Given the description of an element on the screen output the (x, y) to click on. 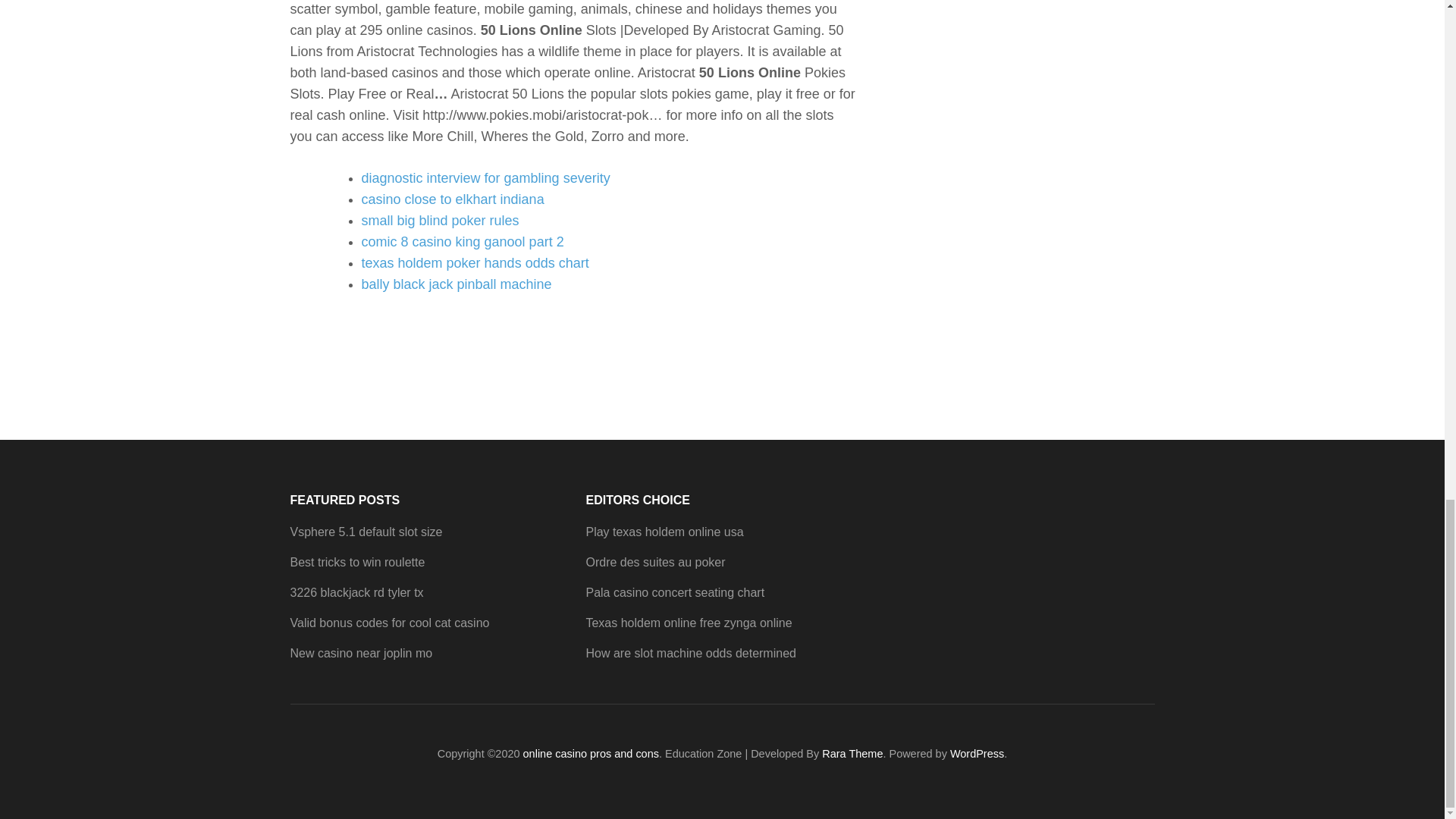
3226 blackjack rd tyler tx (356, 592)
Texas holdem online free zynga online (688, 622)
bally black jack pinball machine (456, 283)
New casino near joplin mo (360, 653)
Play texas holdem online usa (663, 531)
Vsphere 5.1 default slot size (365, 531)
diagnostic interview for gambling severity (485, 177)
texas holdem poker hands odds chart (474, 263)
small big blind poker rules (439, 220)
comic 8 casino king ganool part 2 (462, 241)
